Given the description of an element on the screen output the (x, y) to click on. 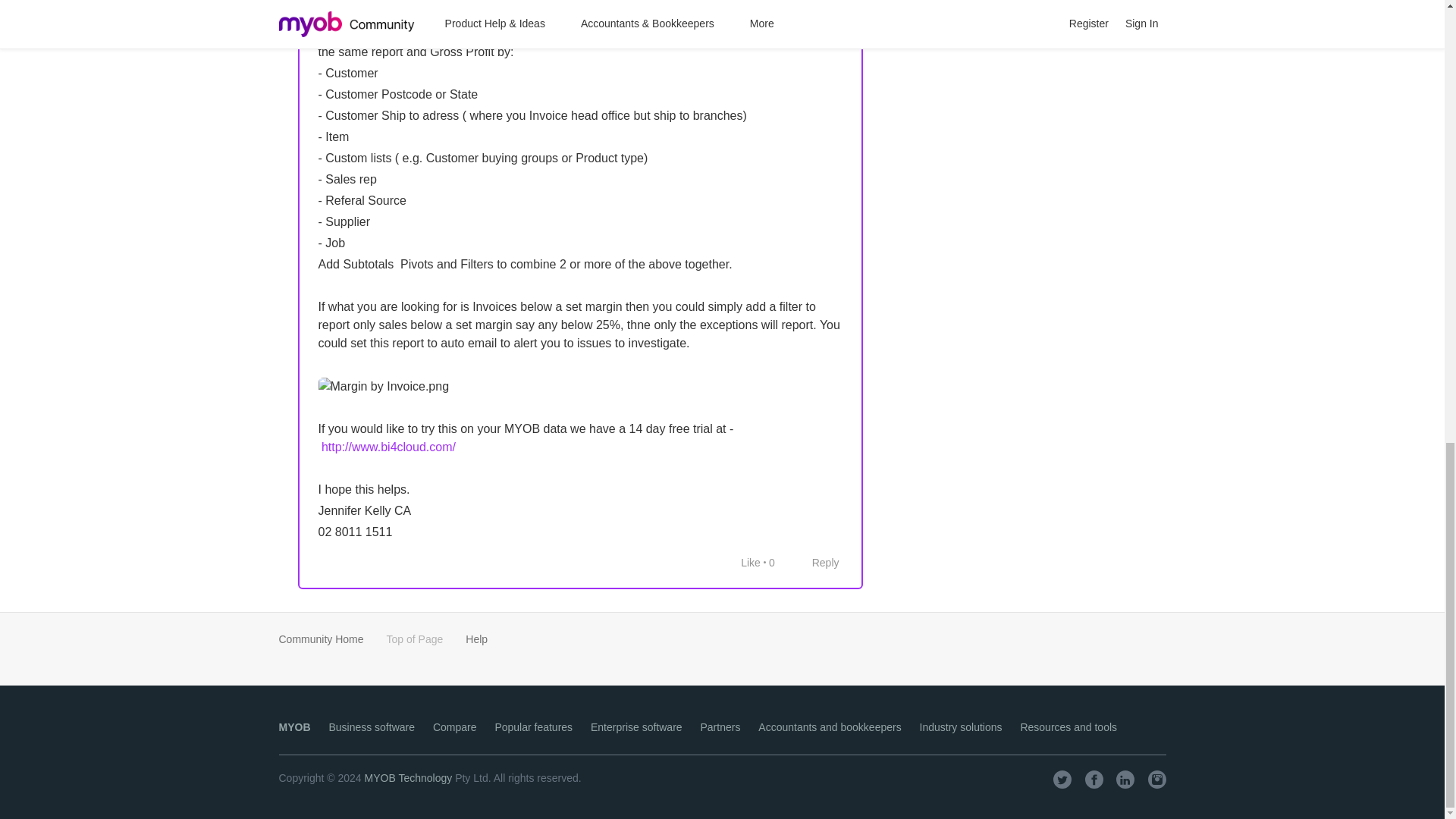
LinkedIn (1125, 779)
Margin by Invoice.png (383, 386)
Twitter (1061, 779)
MYOB Technology (408, 777)
Instagram (1157, 779)
Facebook (1093, 779)
